Given the description of an element on the screen output the (x, y) to click on. 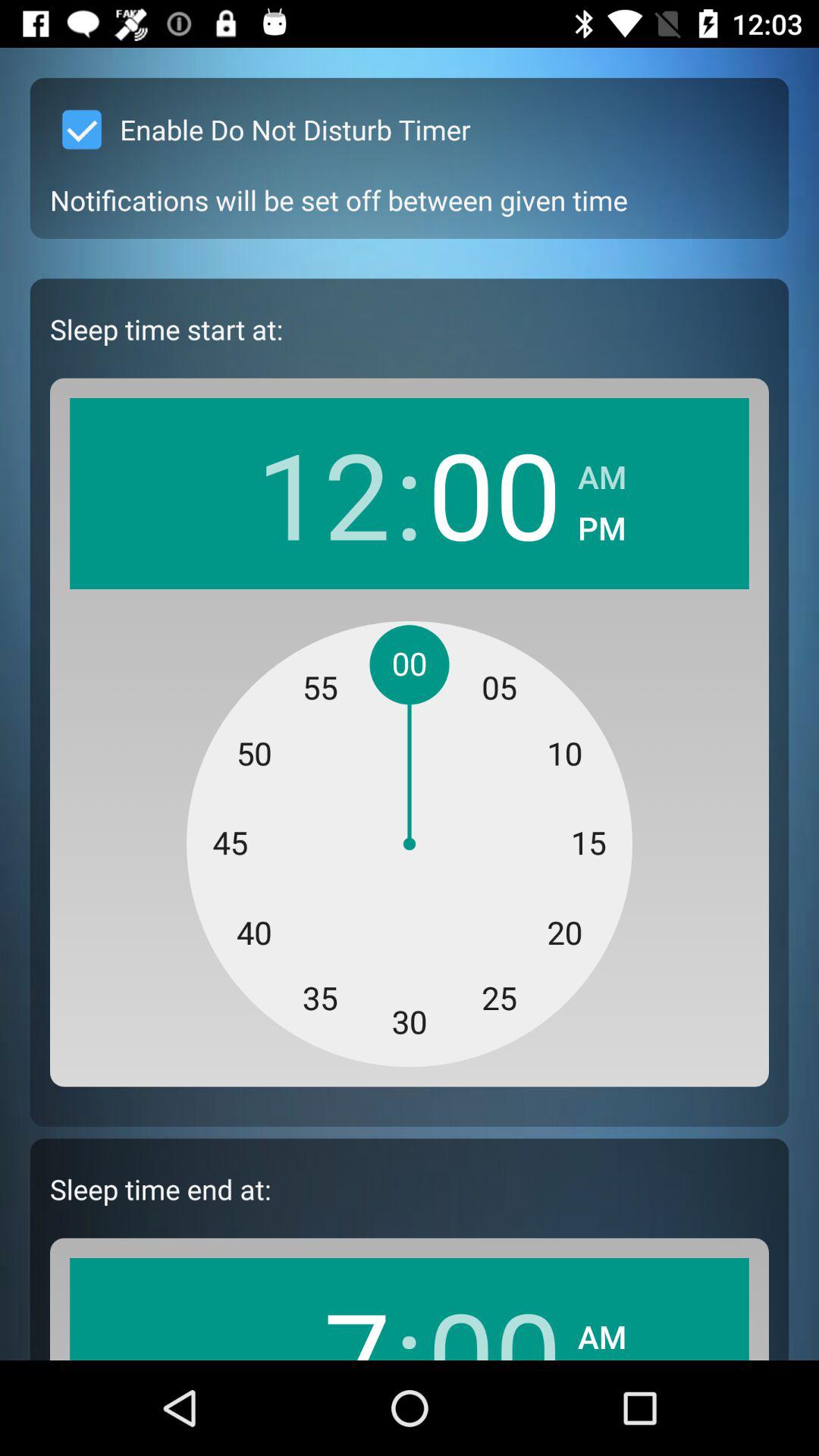
flip to enable do not icon (260, 129)
